Given the description of an element on the screen output the (x, y) to click on. 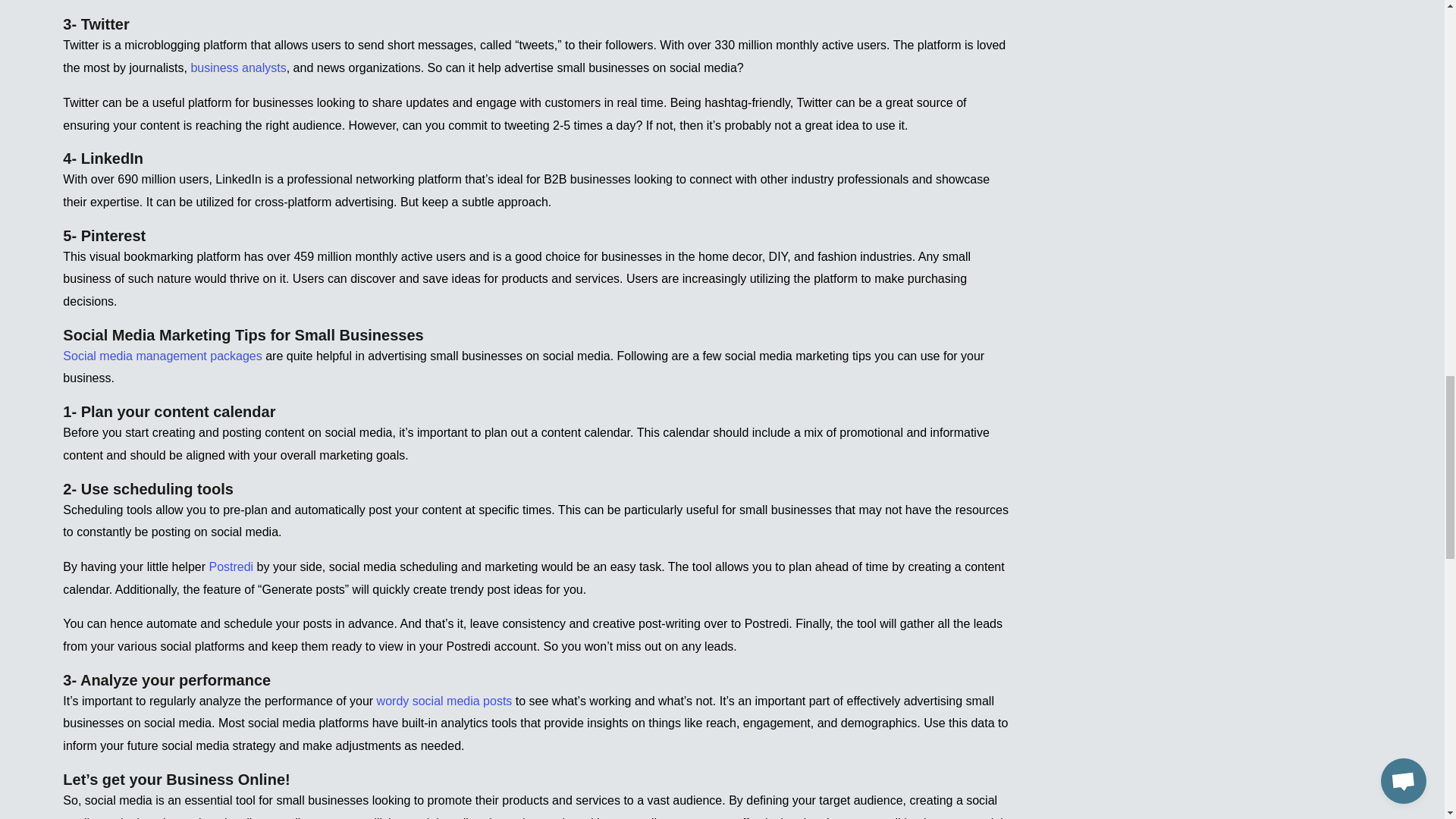
management (170, 355)
business analysts (237, 67)
Social media (98, 355)
wordy social media posts (444, 700)
Postredi (230, 566)
packages (234, 355)
